Given the description of an element on the screen output the (x, y) to click on. 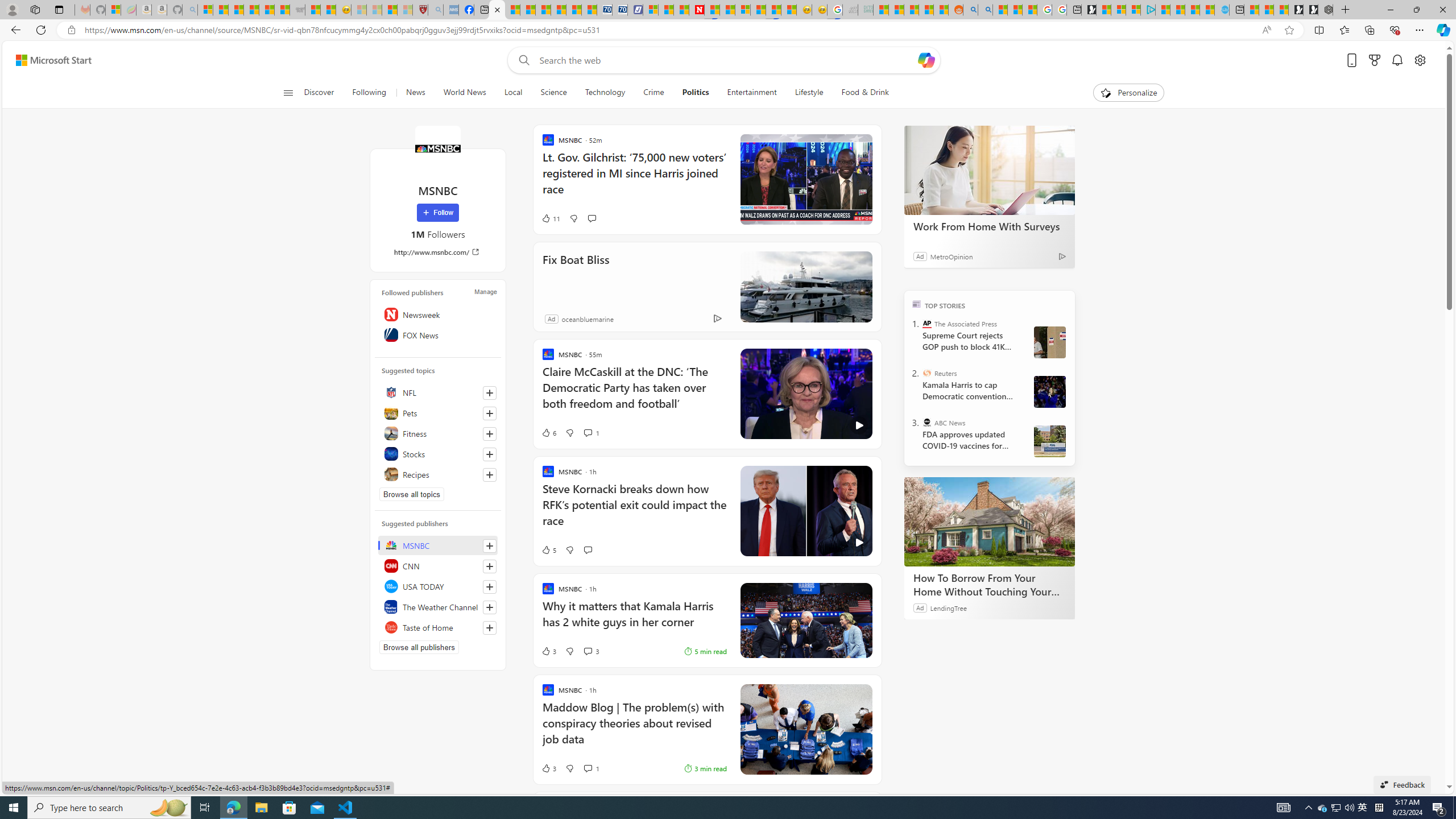
Crime (653, 92)
Microsoft rewards (1374, 60)
list of asthma inhalers uk - Search - Sleeping (435, 9)
Class: button-glyph (287, 92)
Manage (485, 291)
MSNBC - MSN (880, 9)
Recipes (437, 474)
Cheap Car Rentals - Save70.com (604, 9)
